Given the description of an element on the screen output the (x, y) to click on. 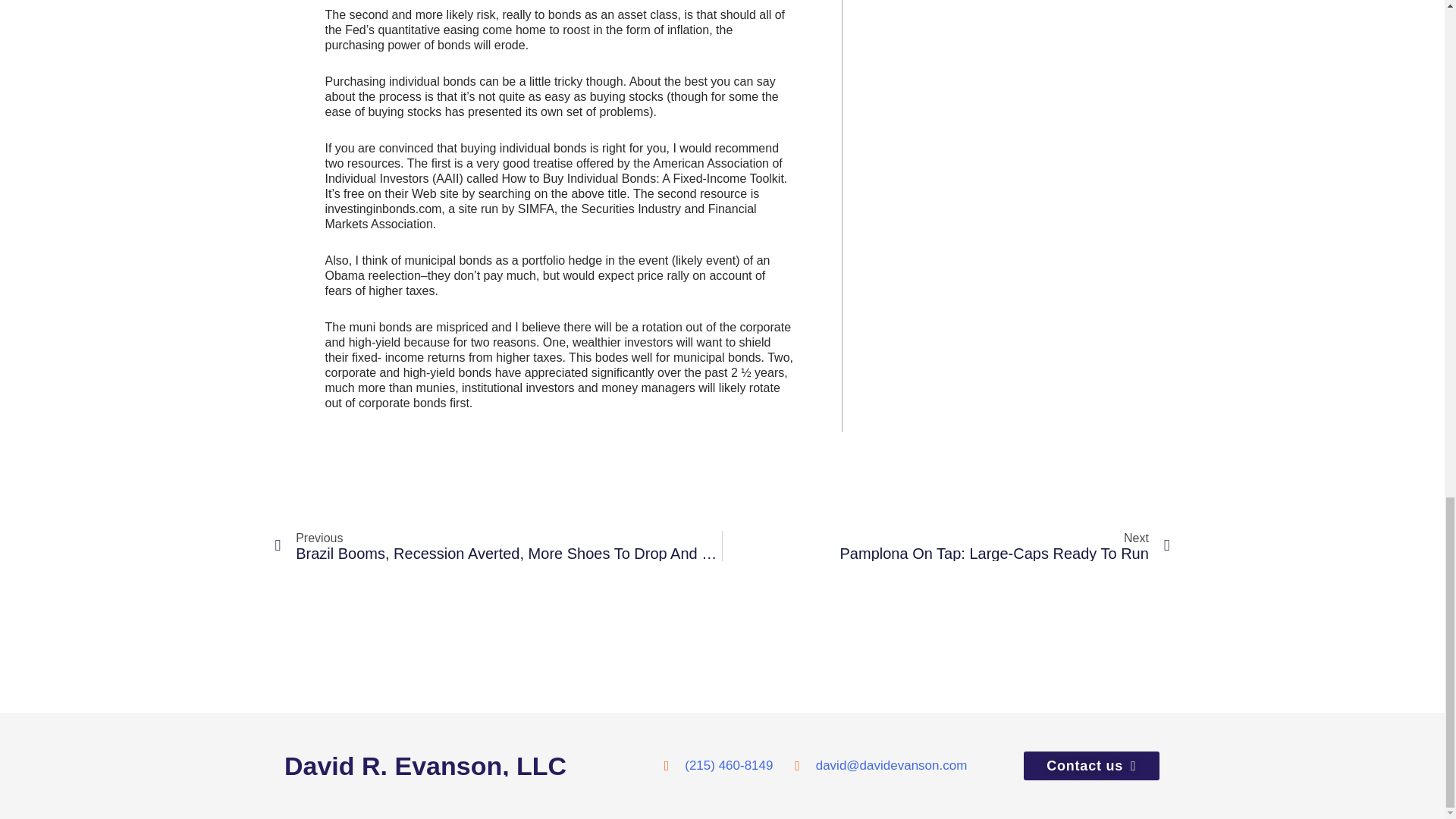
David R. Evanson, LLC (473, 765)
Contact us (946, 545)
